Given the description of an element on the screen output the (x, y) to click on. 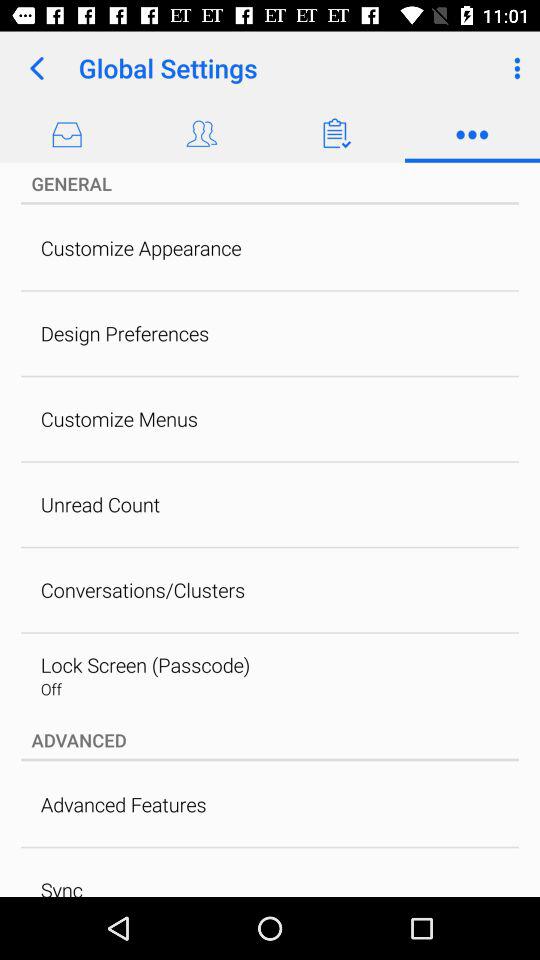
tap the advanced features item (123, 804)
